Given the description of an element on the screen output the (x, y) to click on. 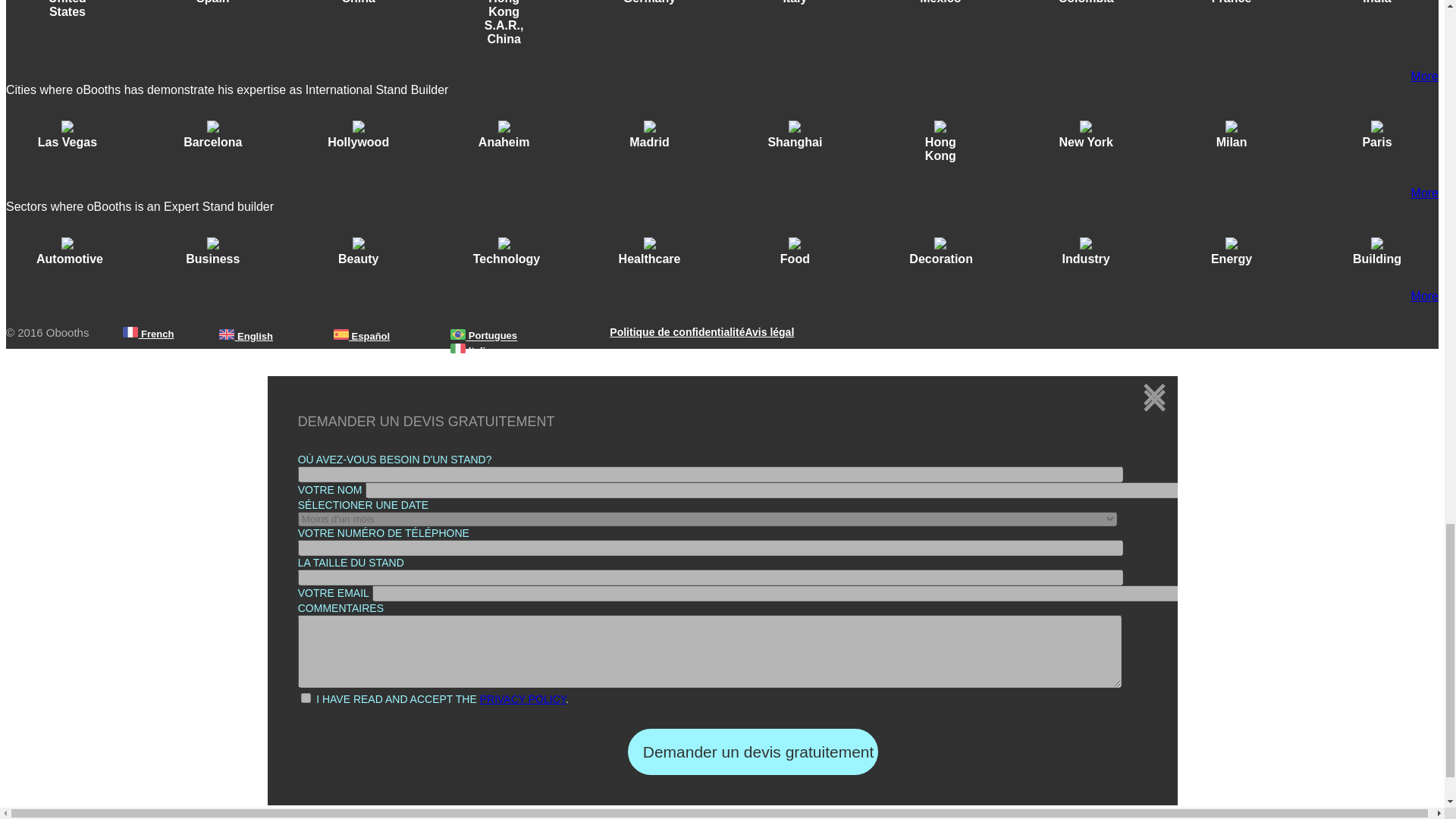
Demander un devis gratuitement (752, 751)
Experience in China (358, 8)
Hong Kong S.A.R., China (504, 22)
China (358, 2)
PRIVACY POLICY (523, 698)
Experience in Hong Kong S.A.R., China (504, 28)
Demander un devis gratuitement (752, 751)
Super expert in Mexico (940, 8)
French (148, 333)
More (1424, 295)
on (306, 697)
Italy (793, 2)
More (1424, 75)
English (245, 335)
Super expert in Colombia (1085, 8)
